Given the description of an element on the screen output the (x, y) to click on. 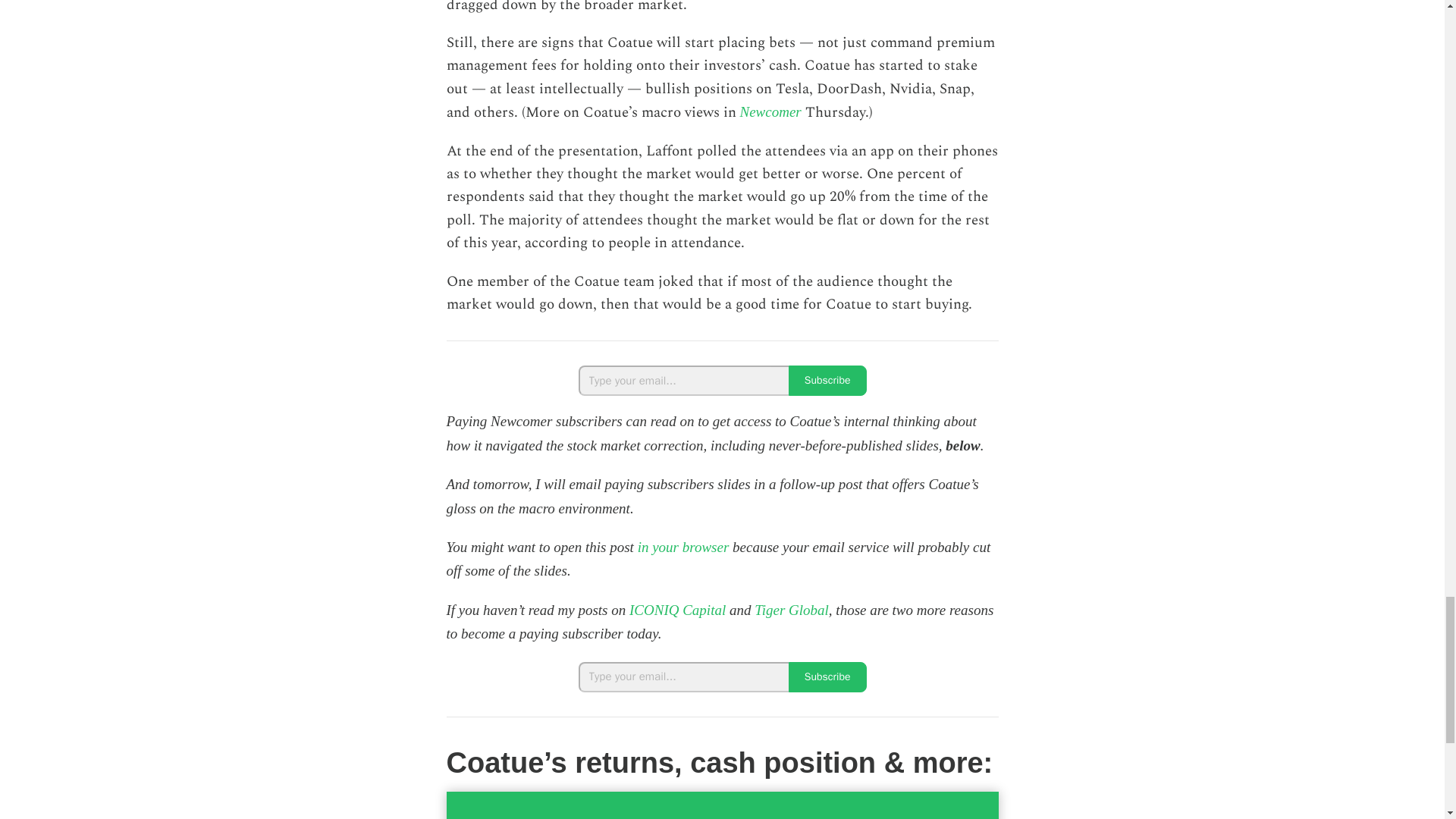
ICONIQ Capital (676, 609)
in your browser (683, 546)
Tiger Global (791, 609)
Subscribe (827, 380)
Newcomer (770, 111)
Subscribe (827, 675)
